Given the description of an element on the screen output the (x, y) to click on. 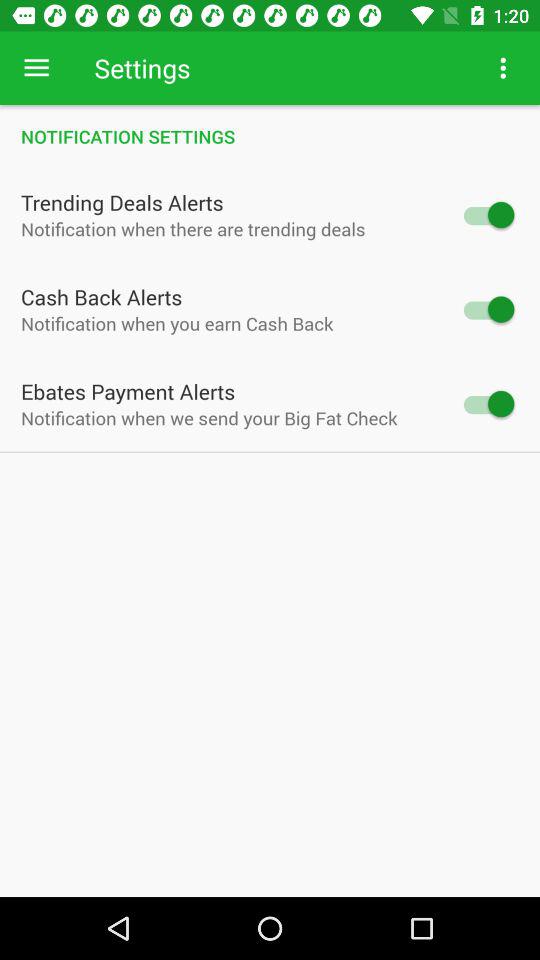
toggle cash back alerts (487, 309)
